Given the description of an element on the screen output the (x, y) to click on. 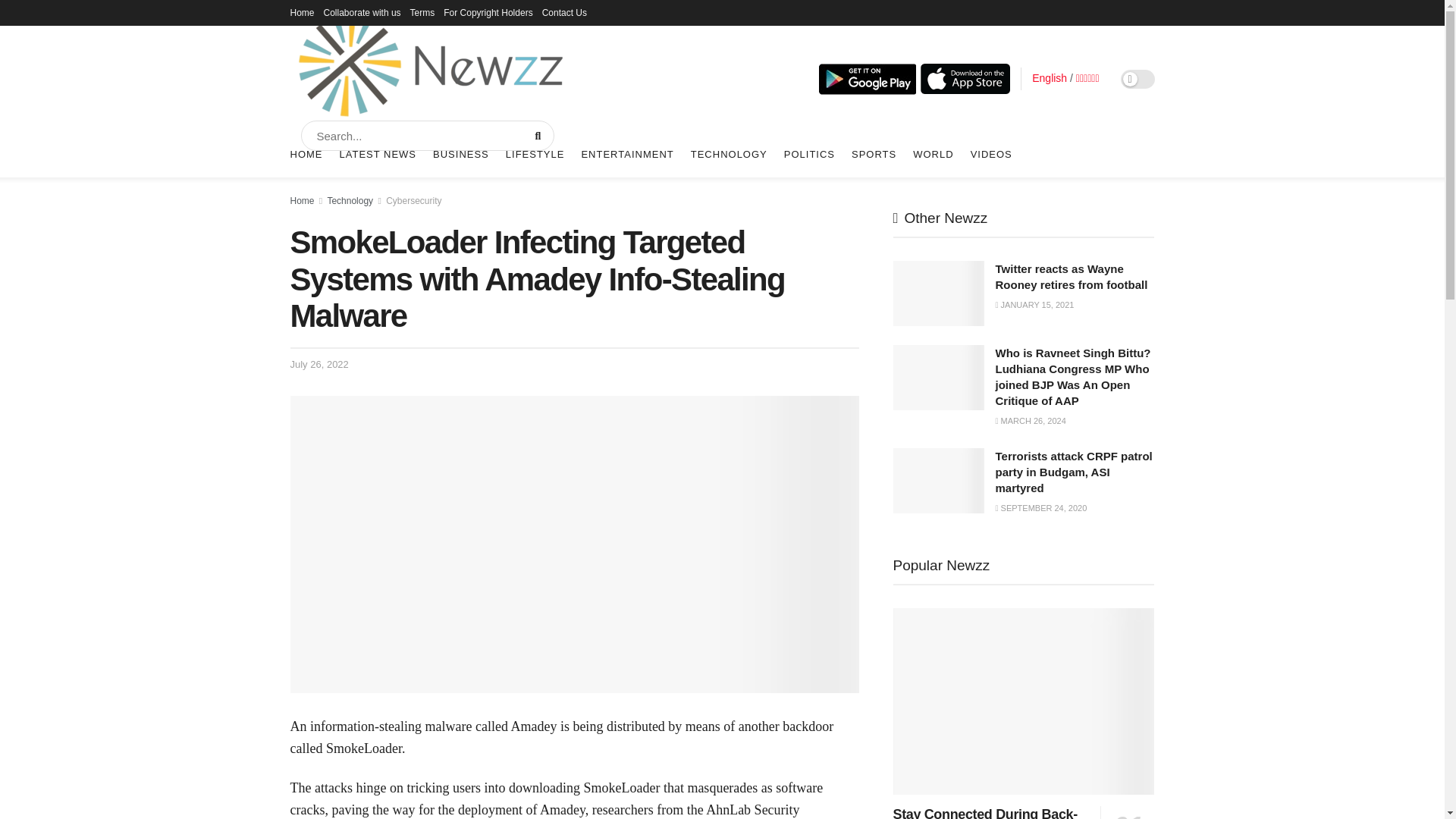
TECHNOLOGY (728, 154)
Collaborate with us (362, 12)
SPORTS (873, 154)
LIFESTYLE (534, 154)
Terms (422, 12)
POLITICS (809, 154)
English (1049, 78)
BUSINESS (460, 154)
Home (301, 12)
LATEST NEWS (377, 154)
